Given the description of an element on the screen output the (x, y) to click on. 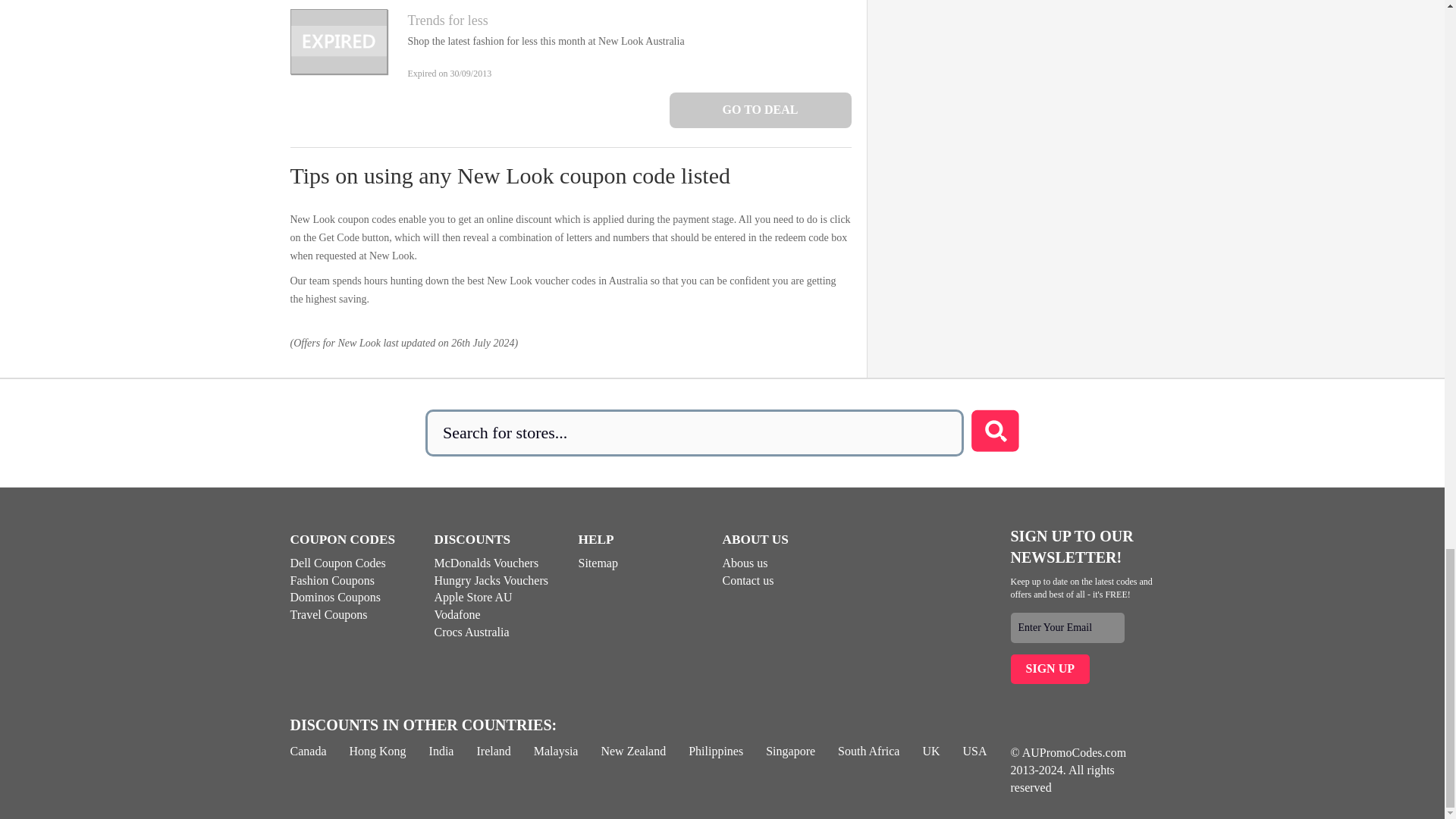
Enter Your Email (1067, 627)
Enter Your Email (1067, 627)
Search for stores... (694, 432)
Search for stores... (694, 432)
